Given the description of an element on the screen output the (x, y) to click on. 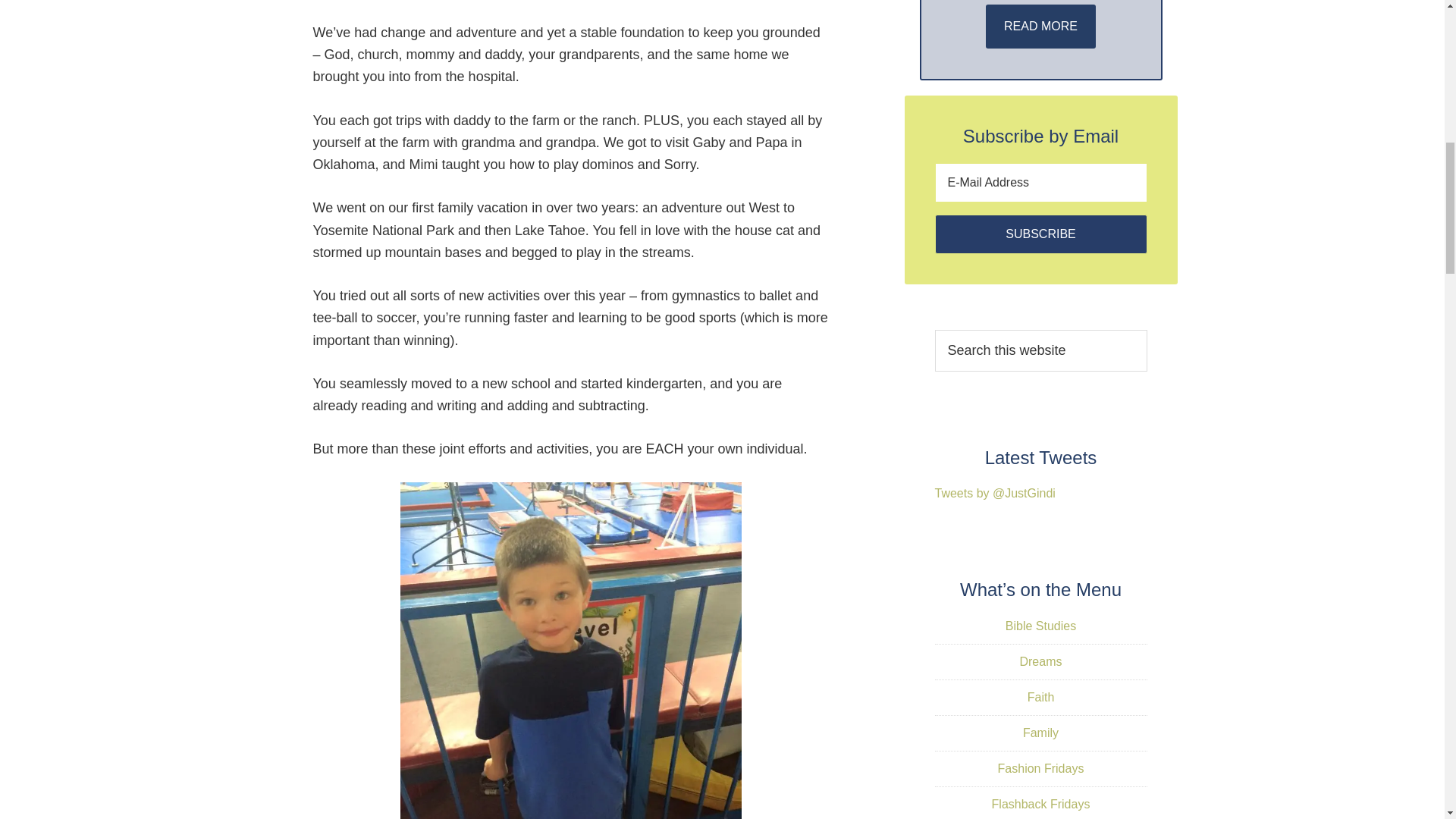
Subscribe (1040, 233)
Subscribe (1040, 233)
READ MORE (1040, 26)
